Given the description of an element on the screen output the (x, y) to click on. 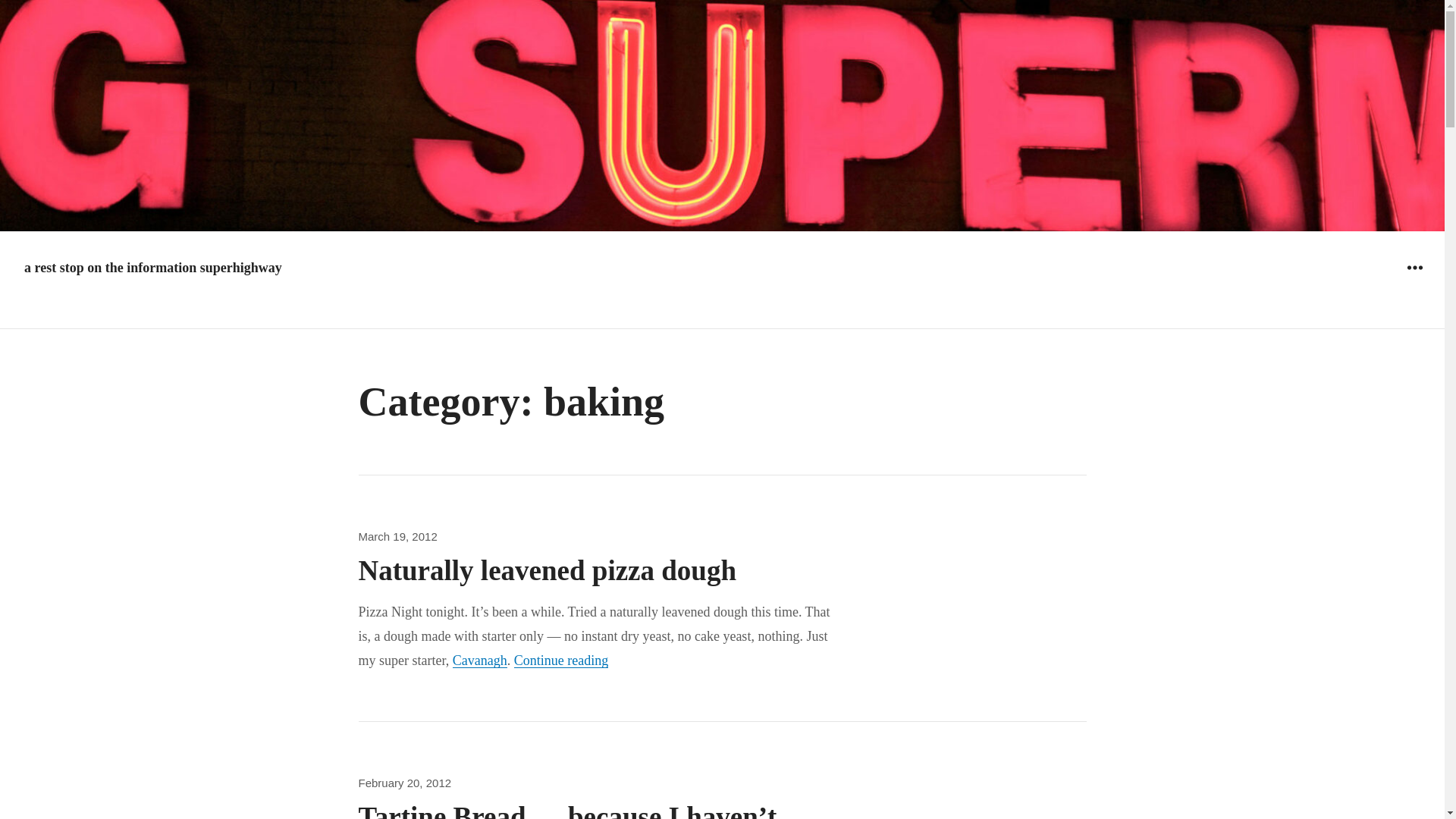
WIDGETS (560, 660)
Cavanagh (1414, 267)
And I shall call it Cavanagh (479, 660)
March 19, 2012 (479, 660)
February 20, 2012 (397, 535)
Naturally leavened pizza dough (404, 782)
